Given the description of an element on the screen output the (x, y) to click on. 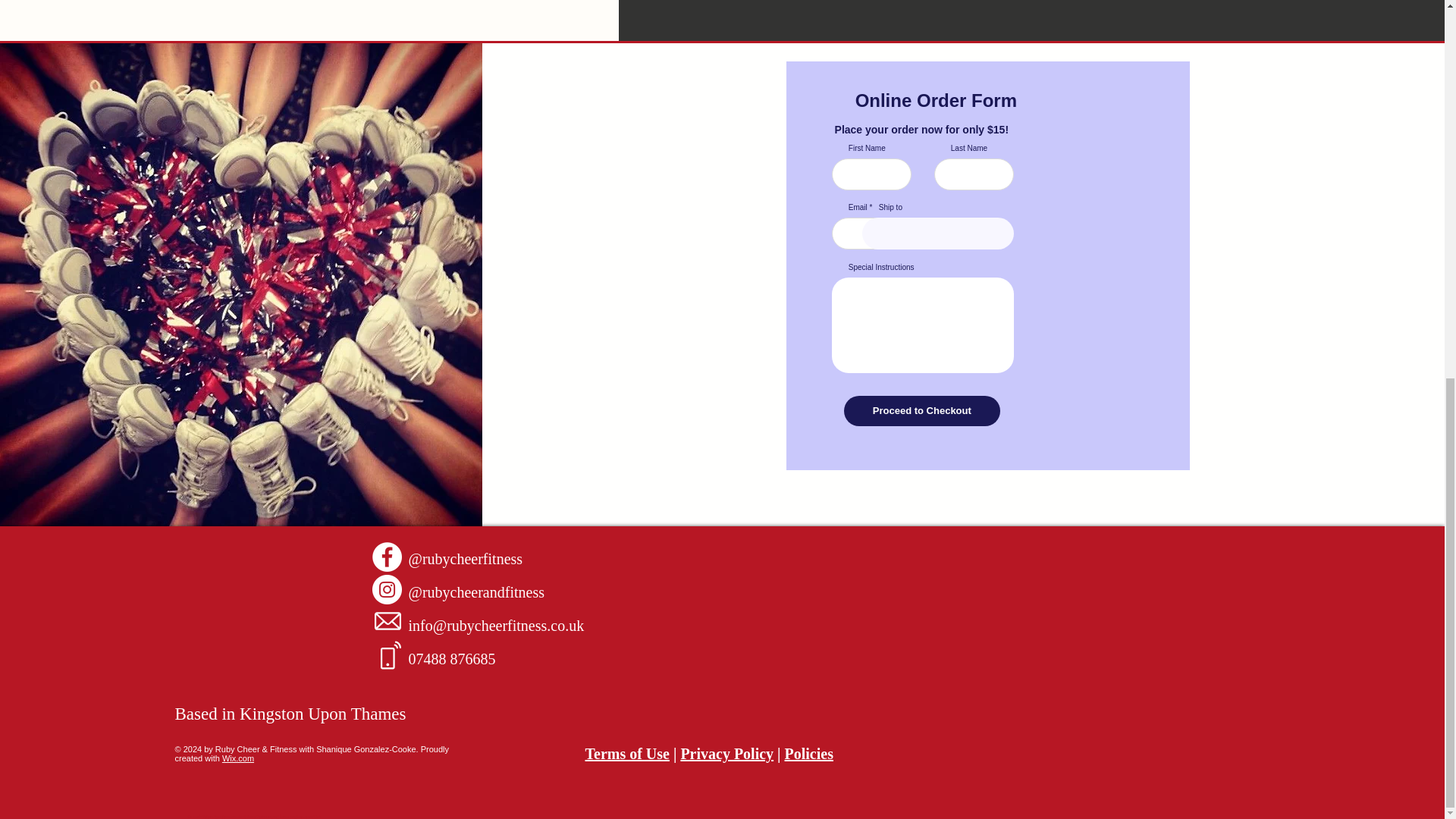
Privacy Policy (726, 753)
Wix.com (237, 757)
Terms of Use (627, 753)
Policies (808, 753)
Proceed to Checkout (922, 410)
